Given the description of an element on the screen output the (x, y) to click on. 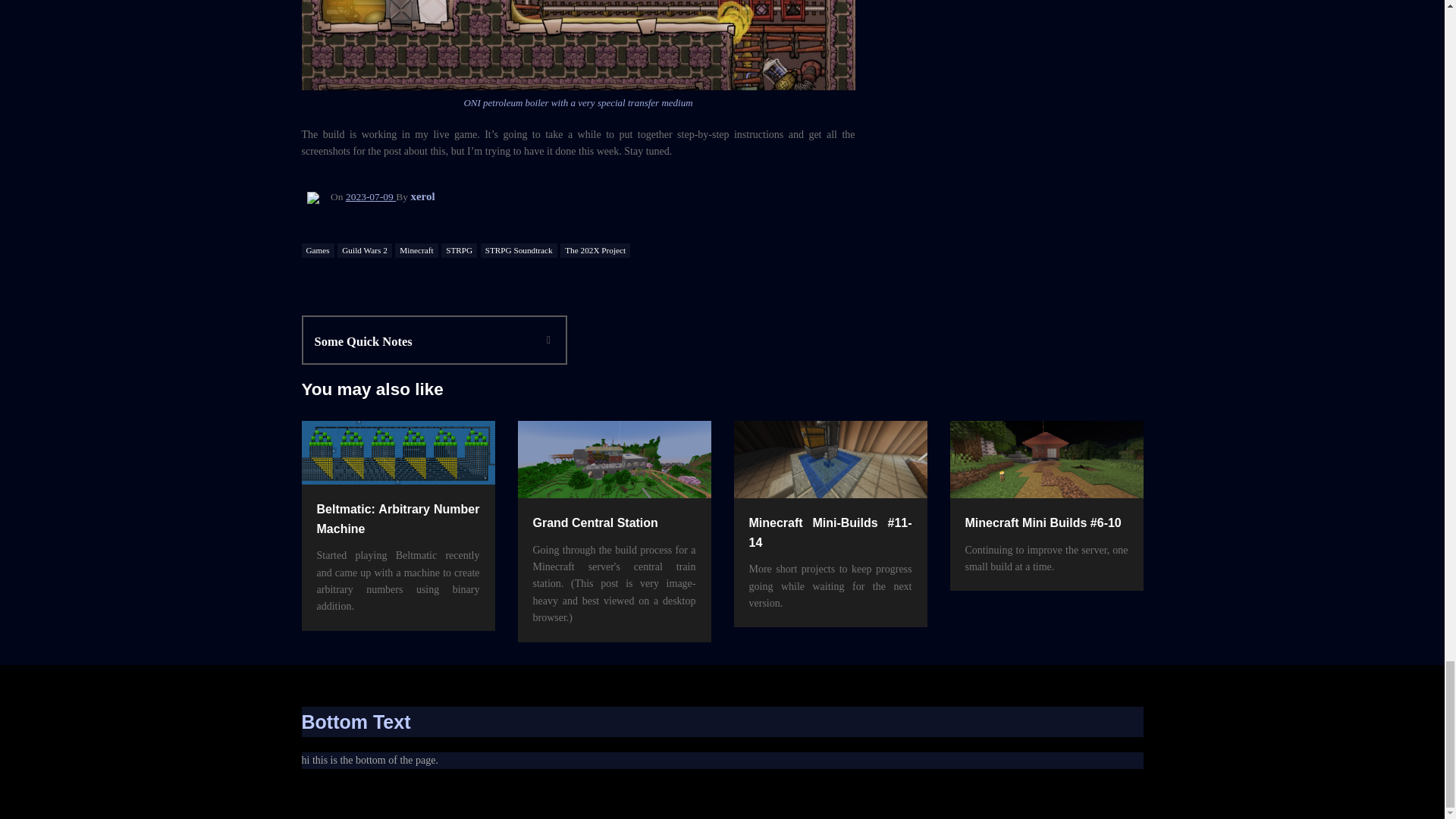
2023-07-09 (422, 342)
Minecraft (371, 196)
xerol (416, 250)
STRPG (421, 196)
STRPG Soundtrack (459, 250)
The 202X Project (518, 250)
Guild Wars 2 (595, 250)
Games (364, 250)
